Given the description of an element on the screen output the (x, y) to click on. 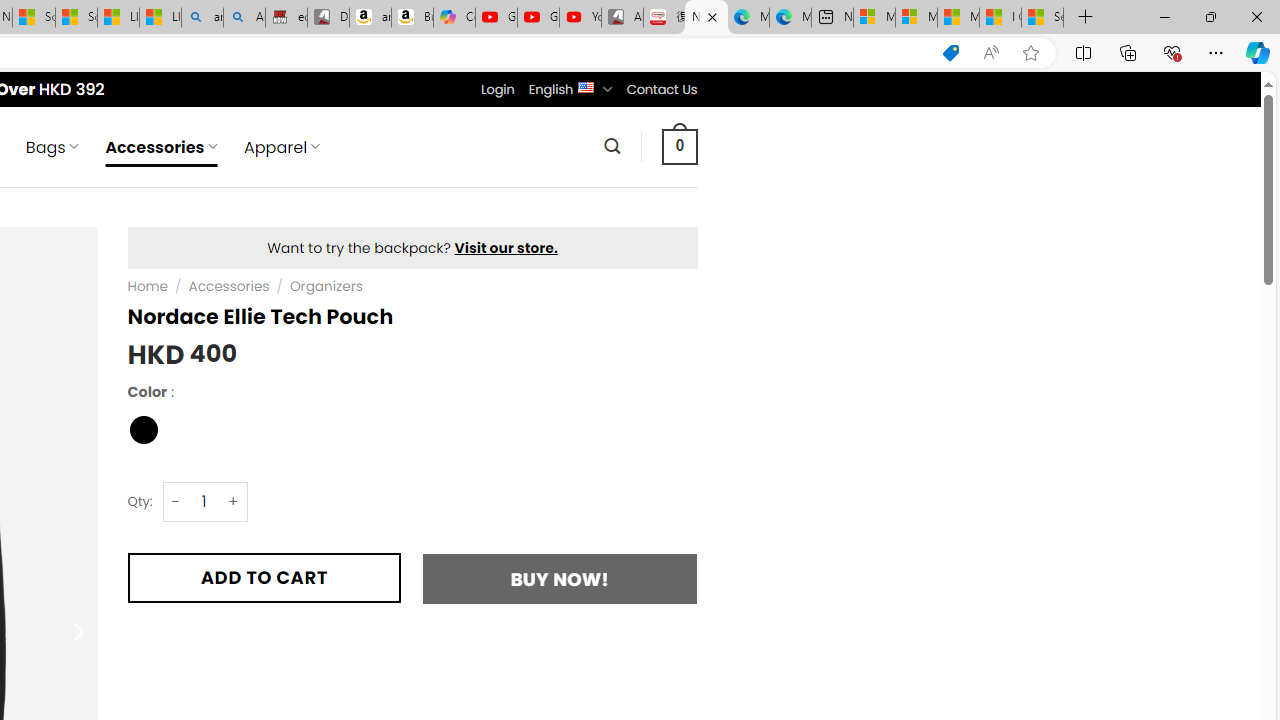
Gloom - YouTube (538, 17)
Visit our store. (506, 247)
- (175, 501)
ADD TO CART (263, 577)
